Given the description of an element on the screen output the (x, y) to click on. 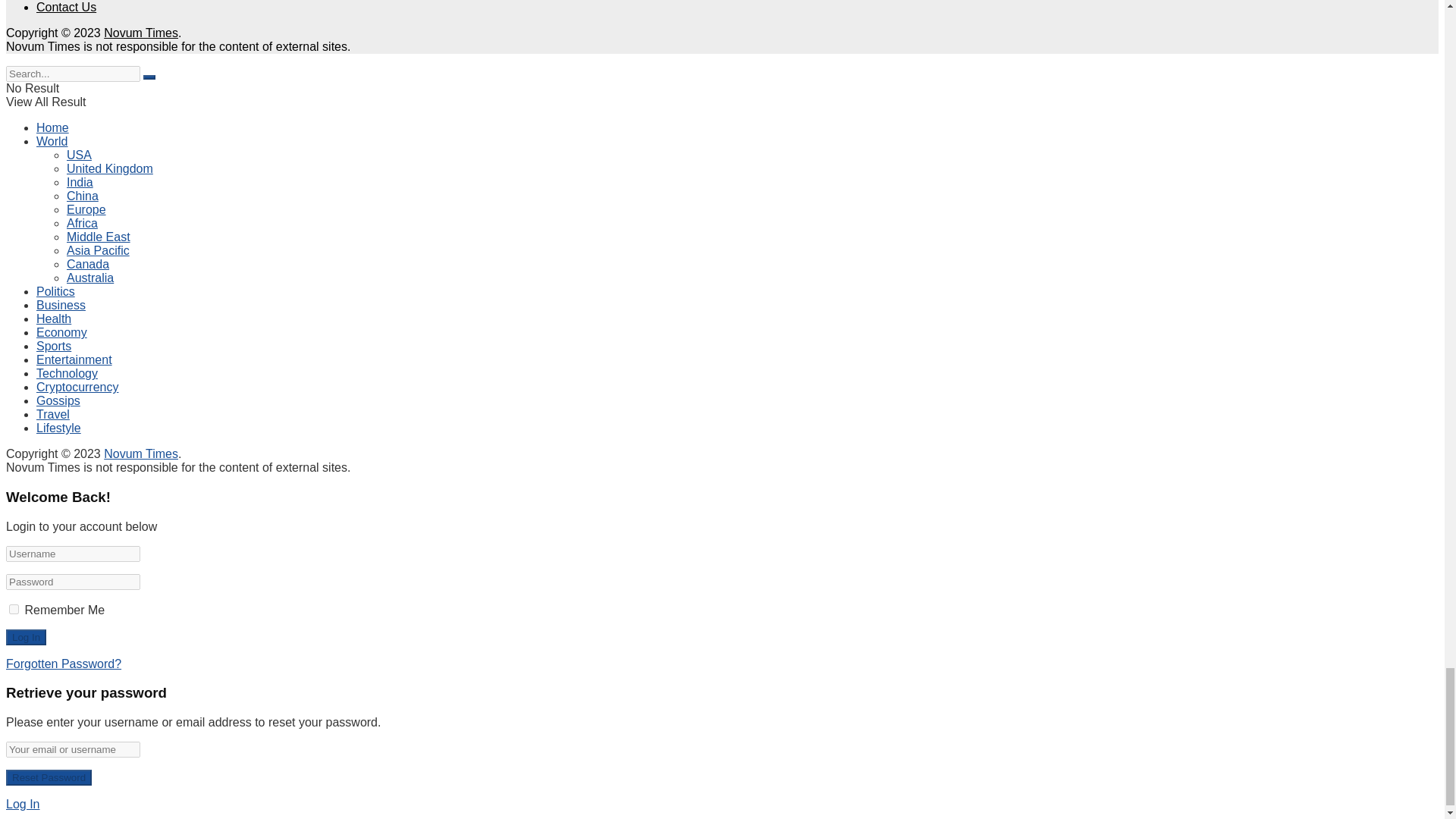
Log In (25, 637)
true (13, 609)
Reset Password (48, 777)
